Given the description of an element on the screen output the (x, y) to click on. 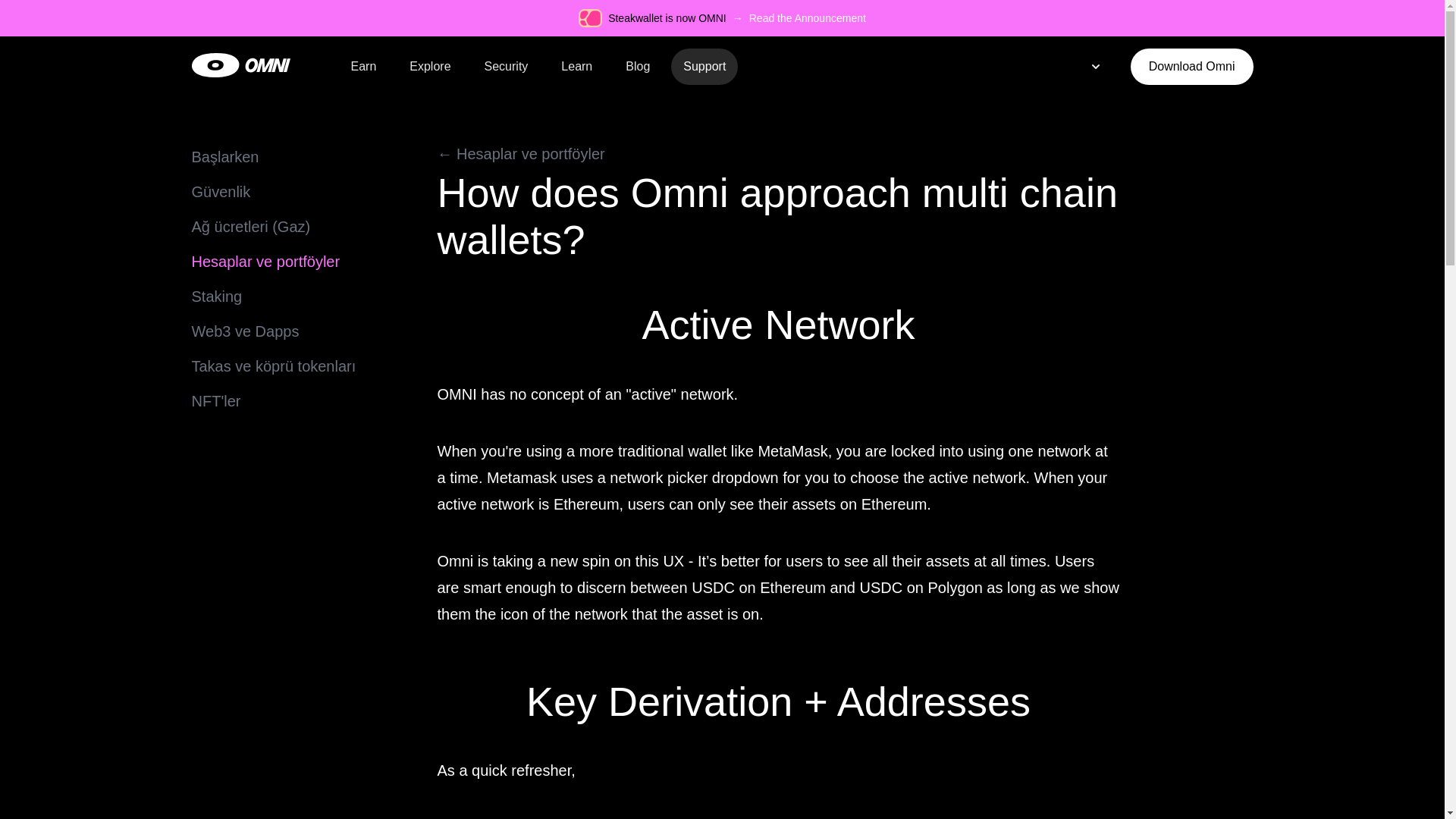
Support (704, 66)
Staking (215, 296)
Explore (430, 66)
Security (505, 66)
Blog (637, 66)
NFT'ler (215, 400)
Read the Announcement (807, 18)
Download Omni (1192, 66)
Learn (576, 66)
Earn (362, 66)
Web3 ve Dapps (244, 331)
